Given the description of an element on the screen output the (x, y) to click on. 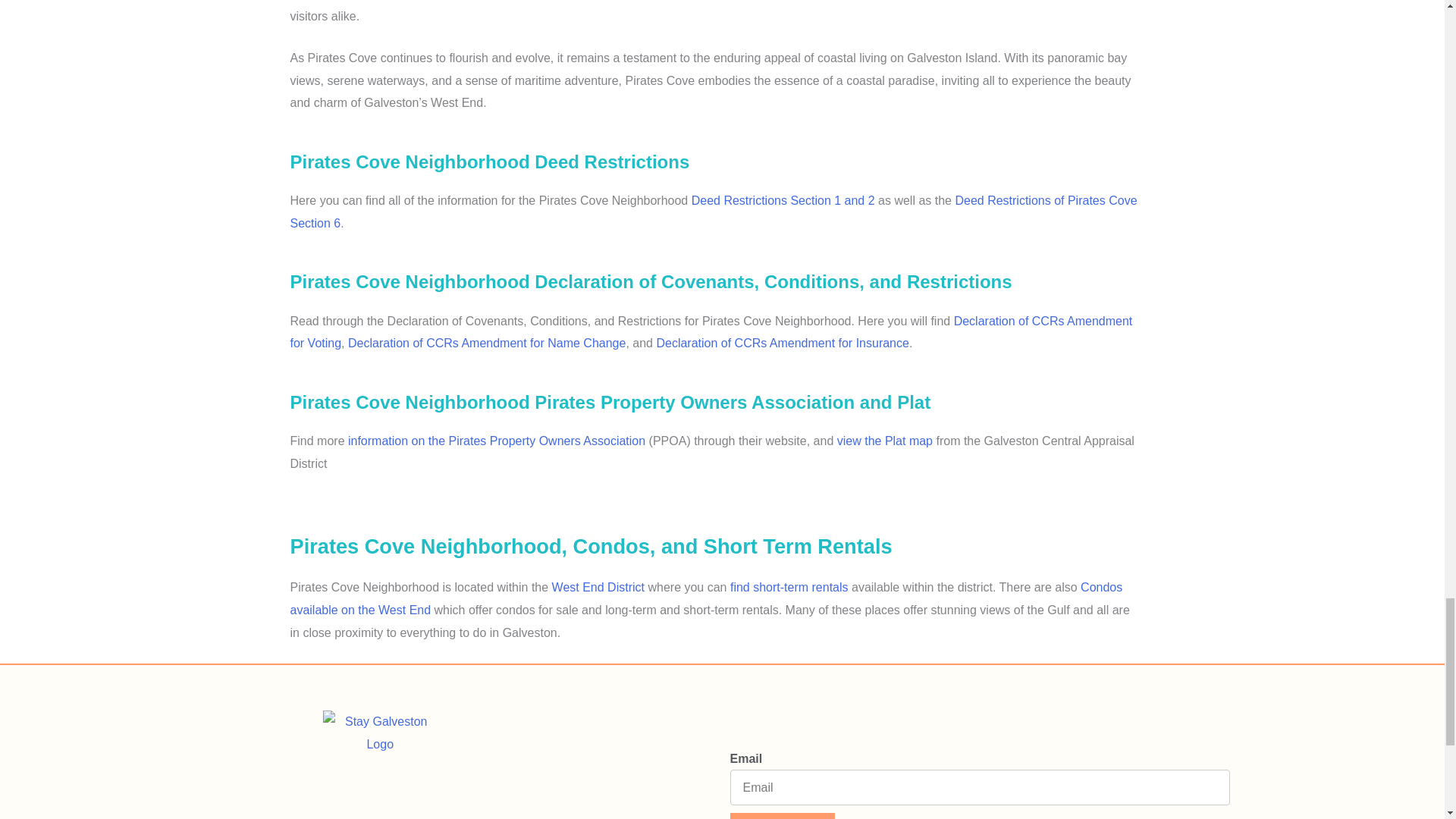
Deed Restrictions Section 1 and 2 (783, 200)
Declaration of CCRs Amendment for Name Change (486, 342)
Declaration of CCRs Amendment for Voting (710, 332)
Deed Restrictions of Pirates Cove Section 6 (713, 212)
